Given the description of an element on the screen output the (x, y) to click on. 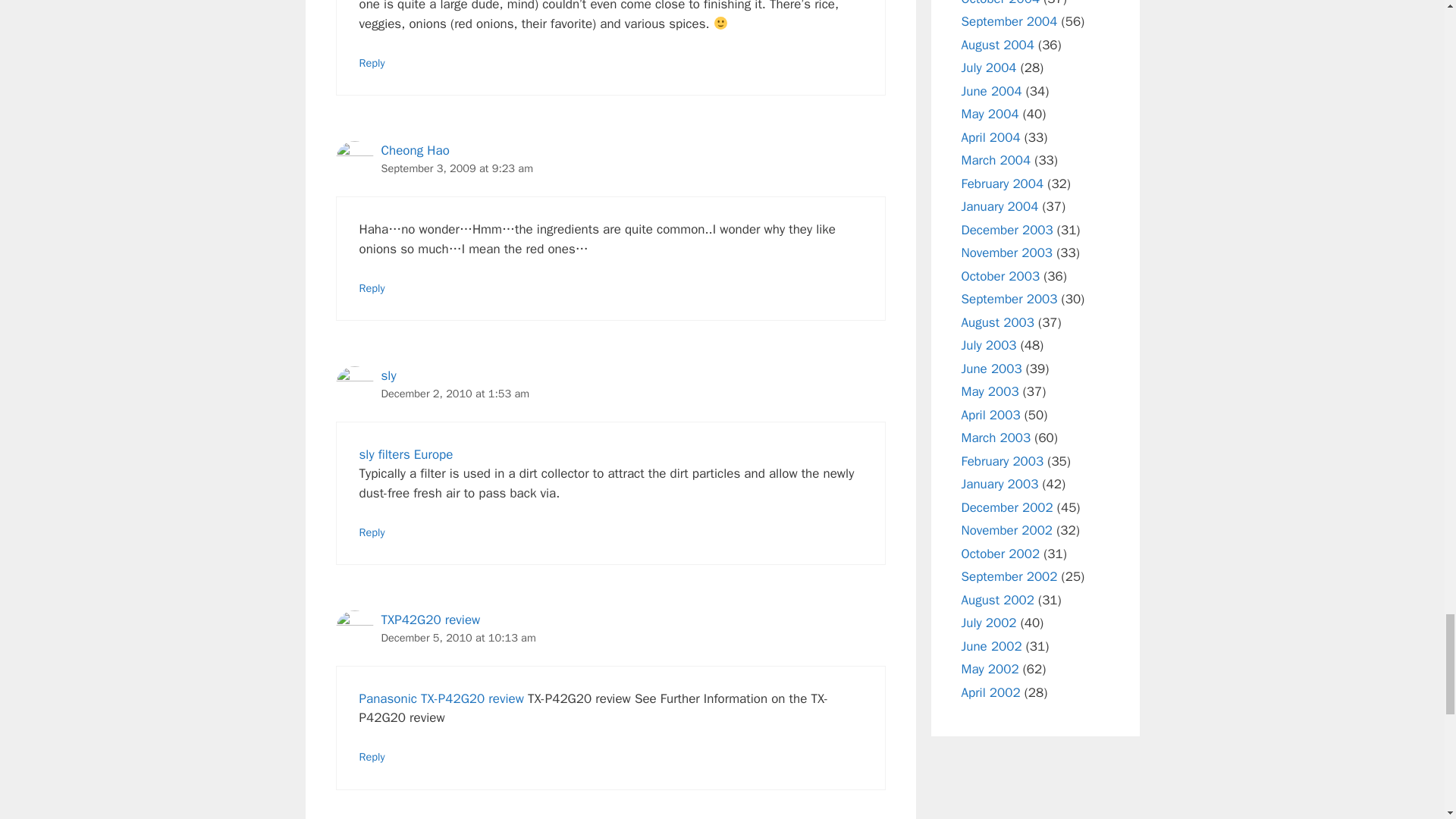
 sly filters Europe (405, 454)
Panasonic TX-P42G20 review (441, 698)
